Given the description of an element on the screen output the (x, y) to click on. 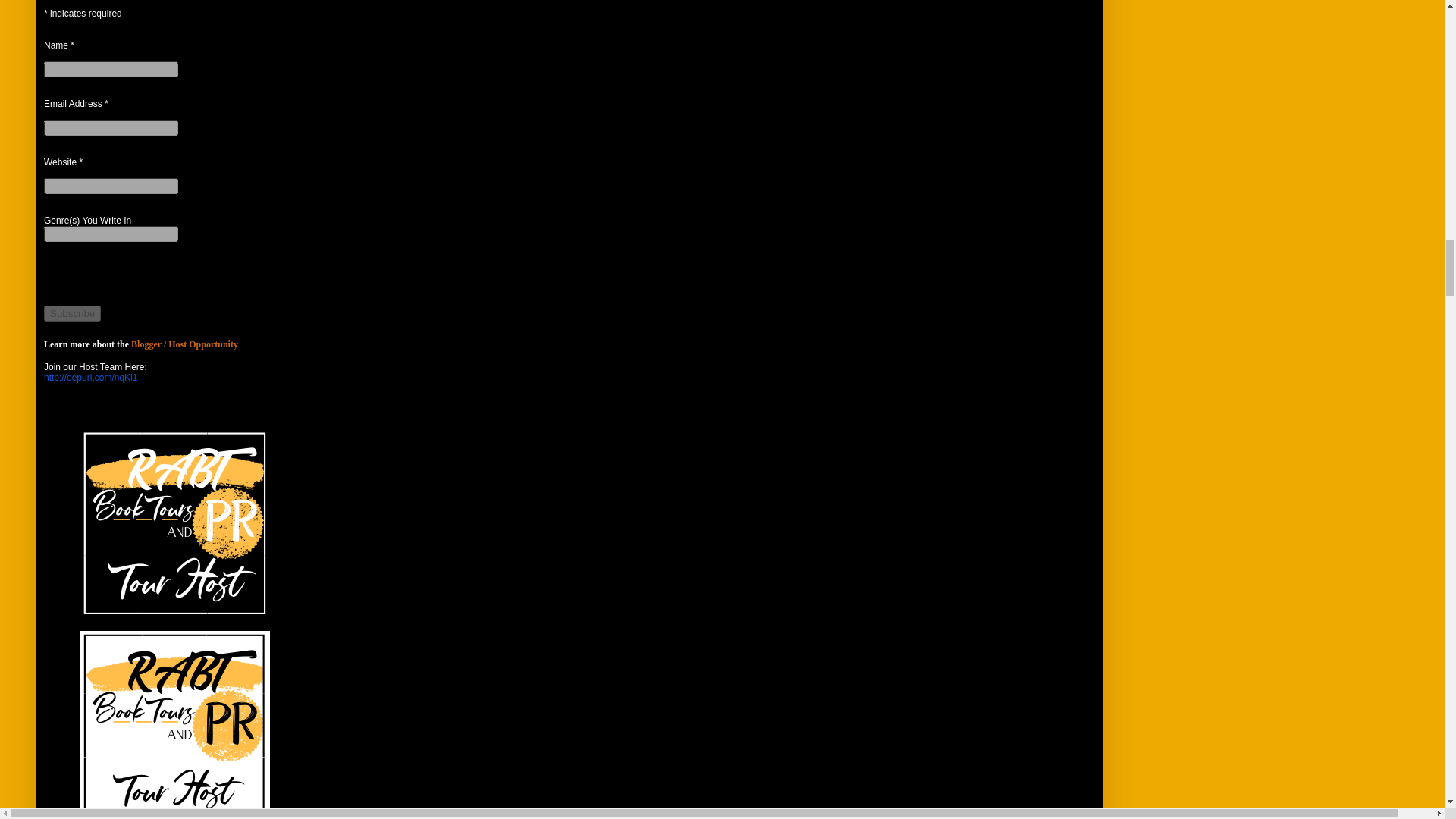
Subscribe (71, 313)
Subscribe (71, 313)
